Given the description of an element on the screen output the (x, y) to click on. 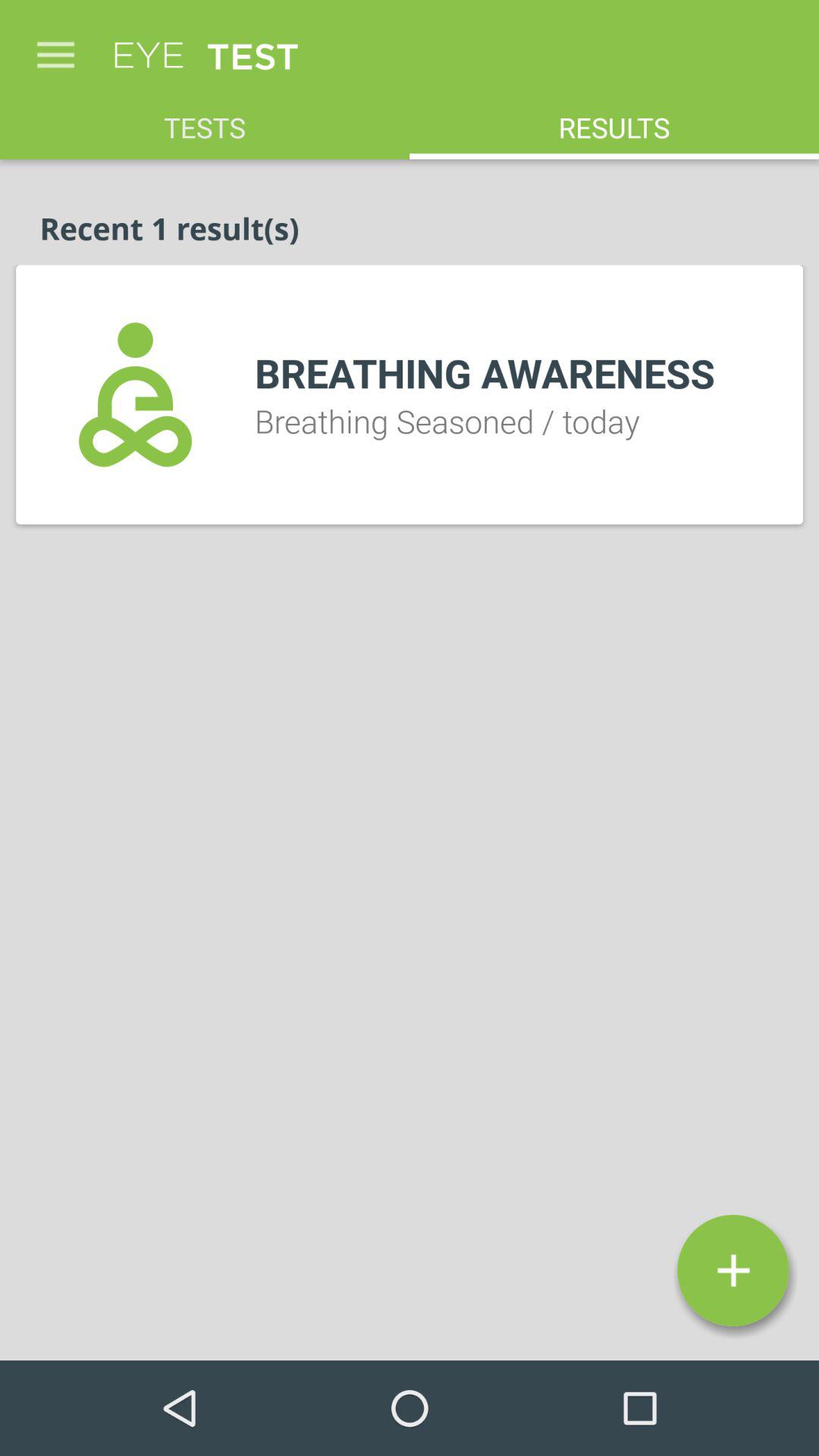
turn off the item to the left of results icon (204, 119)
